Given the description of an element on the screen output the (x, y) to click on. 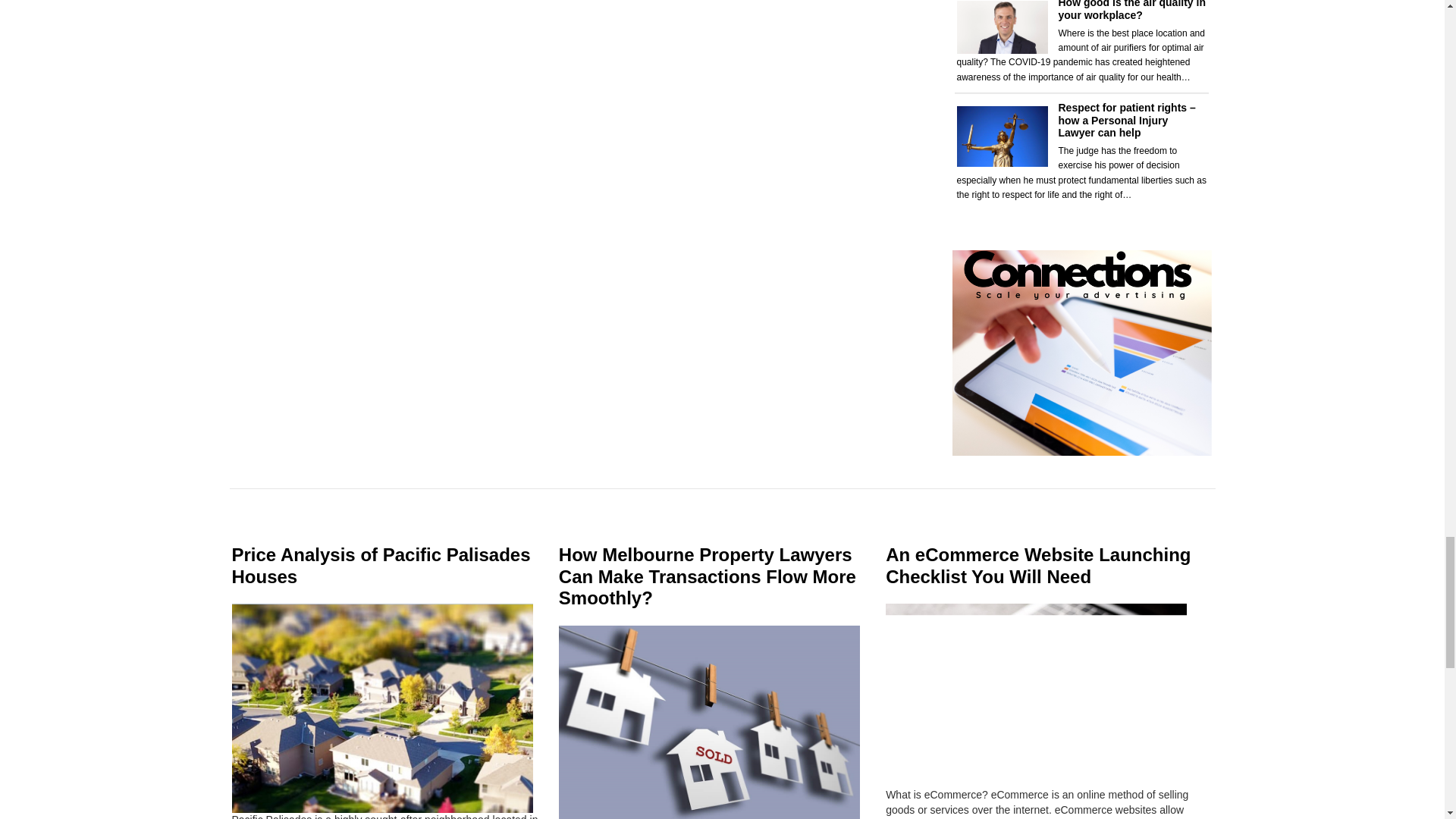
How good is the air quality in your workplace? (1131, 10)
An eCommerce Website Launching Checklist You Will Need (1038, 565)
How good is the air quality in your workplace? (1131, 10)
Price Analysis of Pacific Palisades Houses (381, 565)
